Given the description of an element on the screen output the (x, y) to click on. 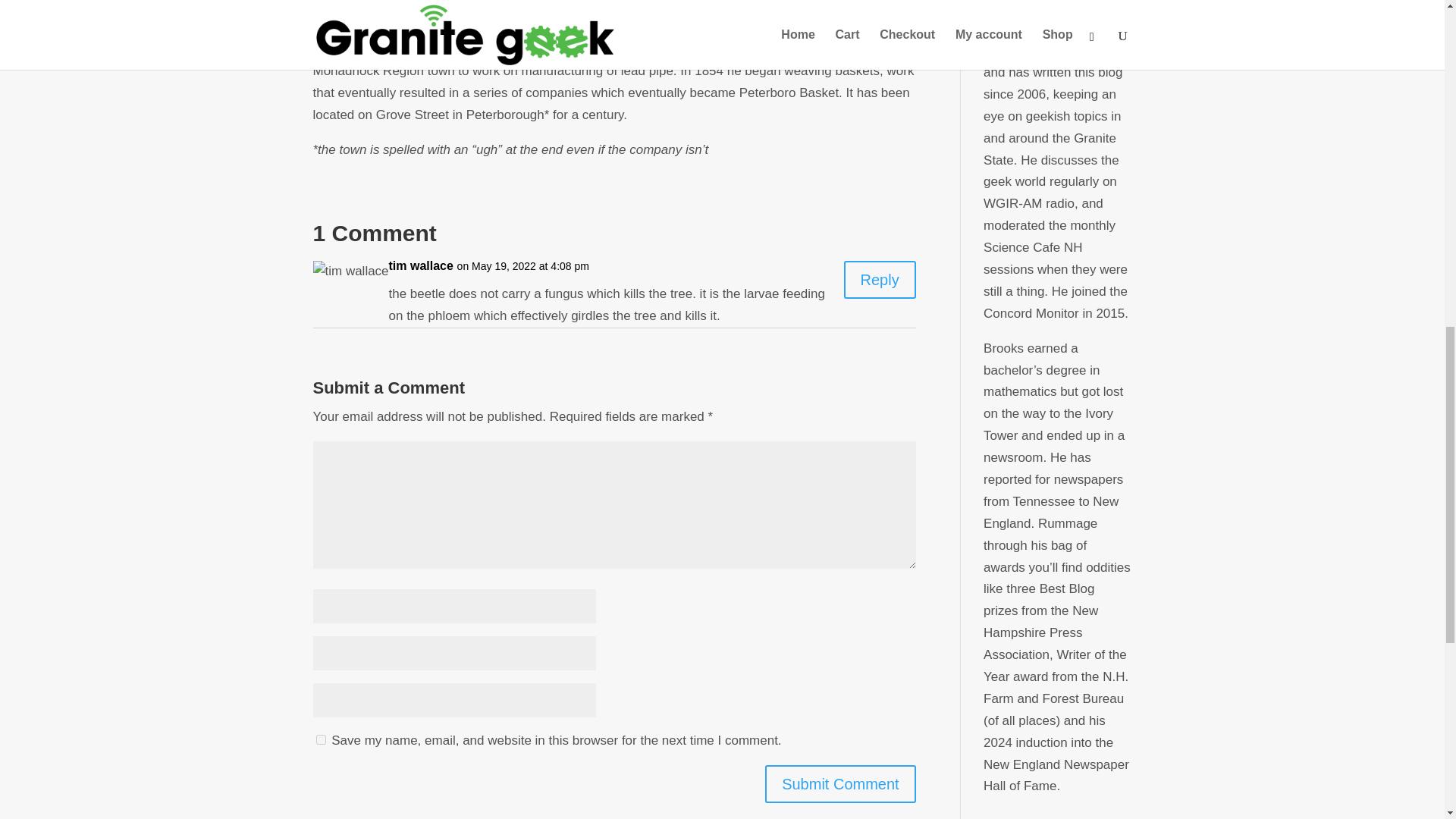
Submit Comment (840, 783)
Reply (879, 279)
Submit Comment (840, 783)
yes (319, 739)
